Given the description of an element on the screen output the (x, y) to click on. 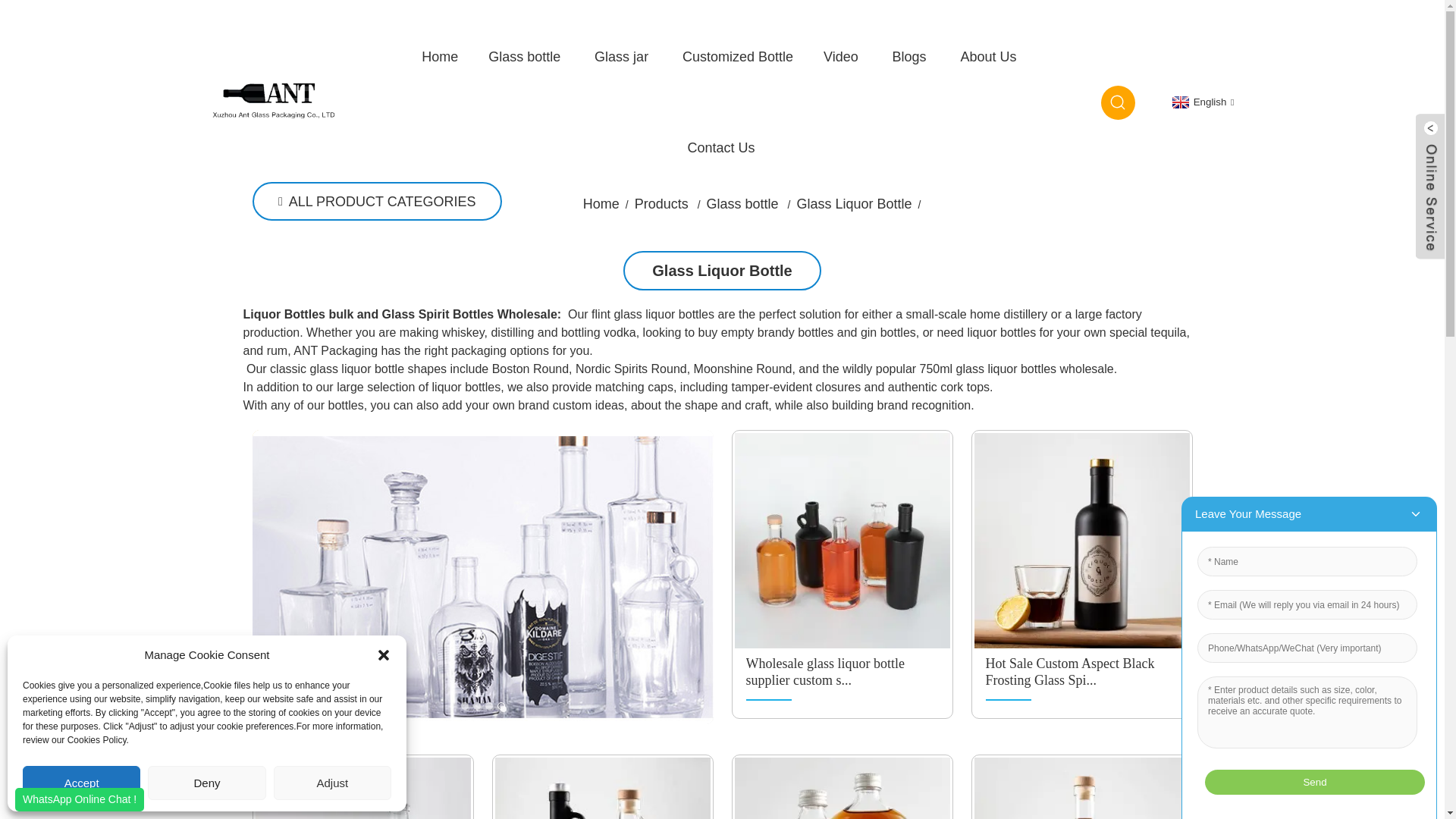
Customized Bottle (737, 56)
Glass bottle (526, 56)
Home (439, 56)
Glass jar (622, 56)
Video (842, 56)
